Given the description of an element on the screen output the (x, y) to click on. 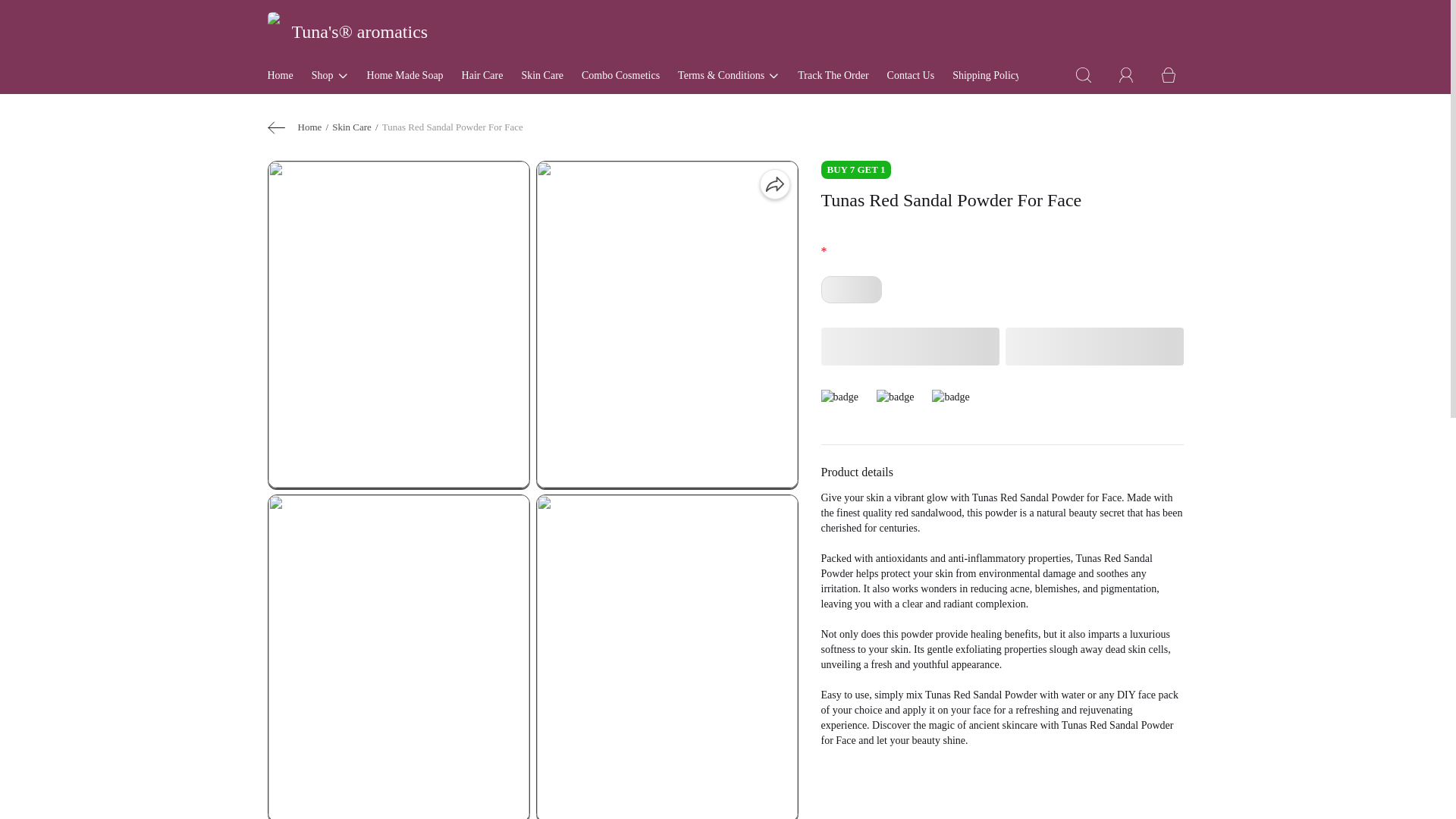
Change Store Language (1090, 79)
Shop (330, 79)
Track The Order (832, 79)
Shipping Policy (986, 79)
Skin Care (542, 79)
Home Made Soap (405, 79)
Home (279, 79)
Hair Care (482, 79)
Combo Cosmetics (619, 79)
Contact Us (910, 79)
